Given the description of an element on the screen output the (x, y) to click on. 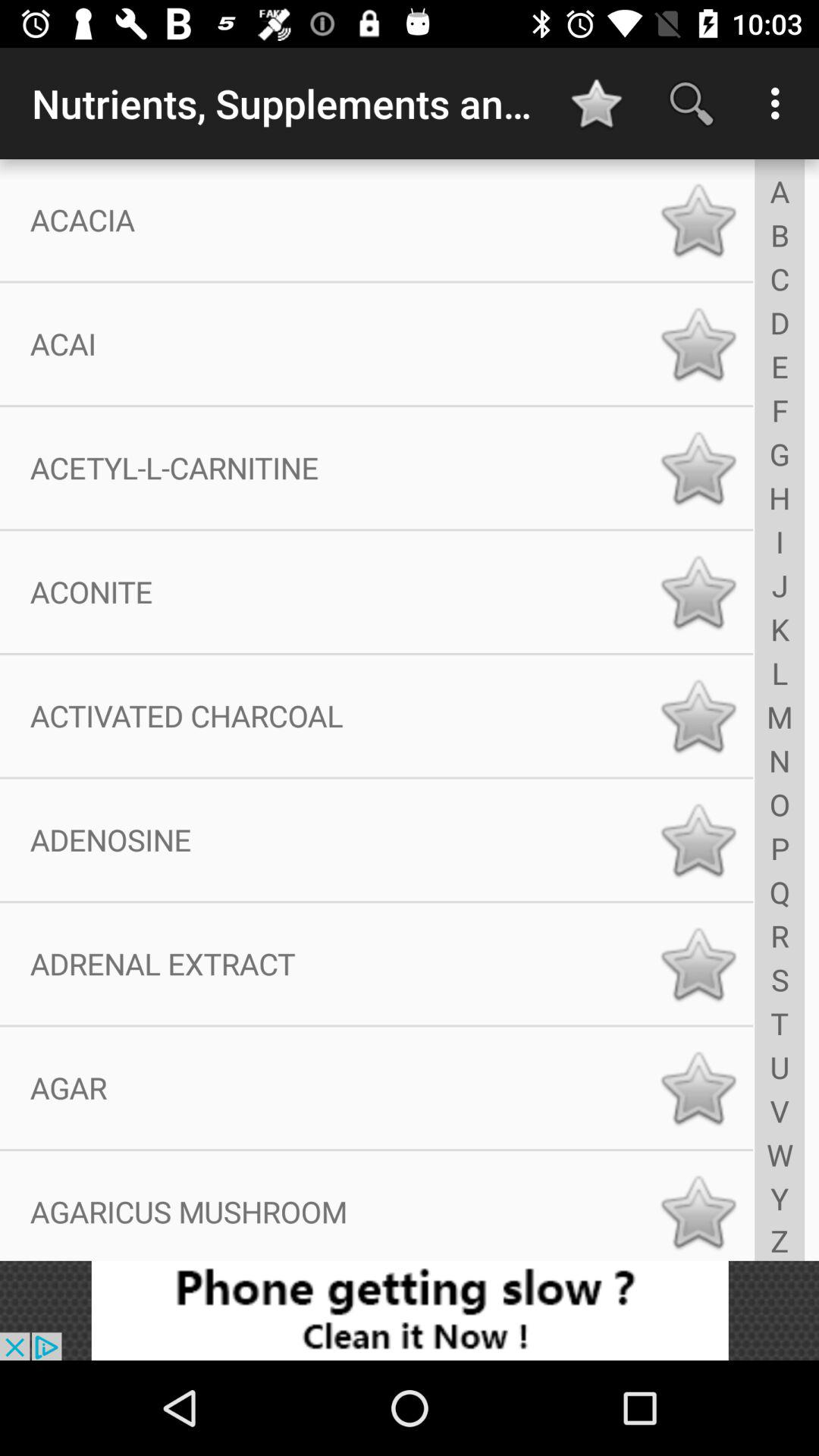
favorite (697, 344)
